Given the description of an element on the screen output the (x, y) to click on. 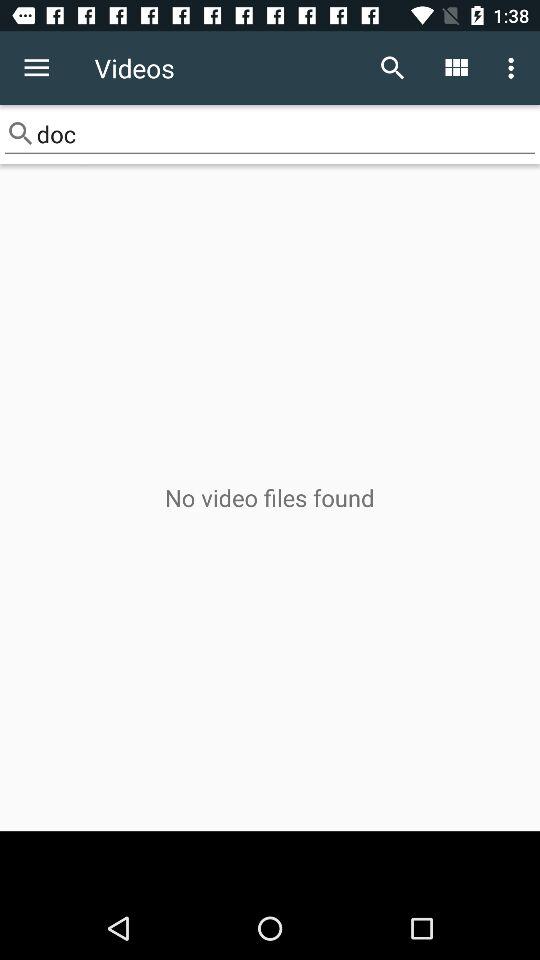
flip to doc item (270, 134)
